Given the description of an element on the screen output the (x, y) to click on. 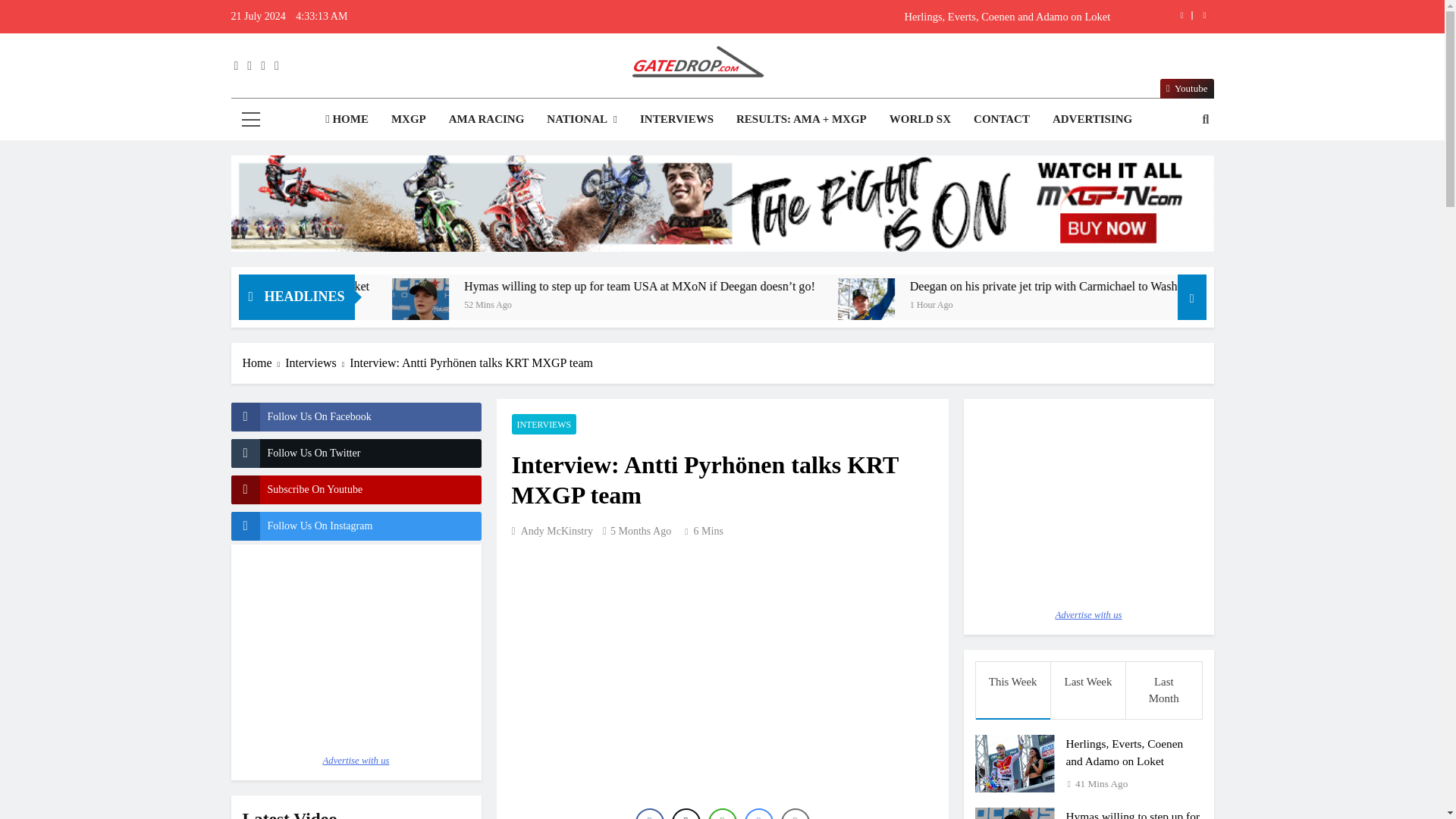
Herlings, Everts, Coenen and Adamo on Loket (817, 16)
GateDrop.Com (542, 109)
Herlings, Everts, Coenen and Adamo on Loket (817, 16)
